Given the description of an element on the screen output the (x, y) to click on. 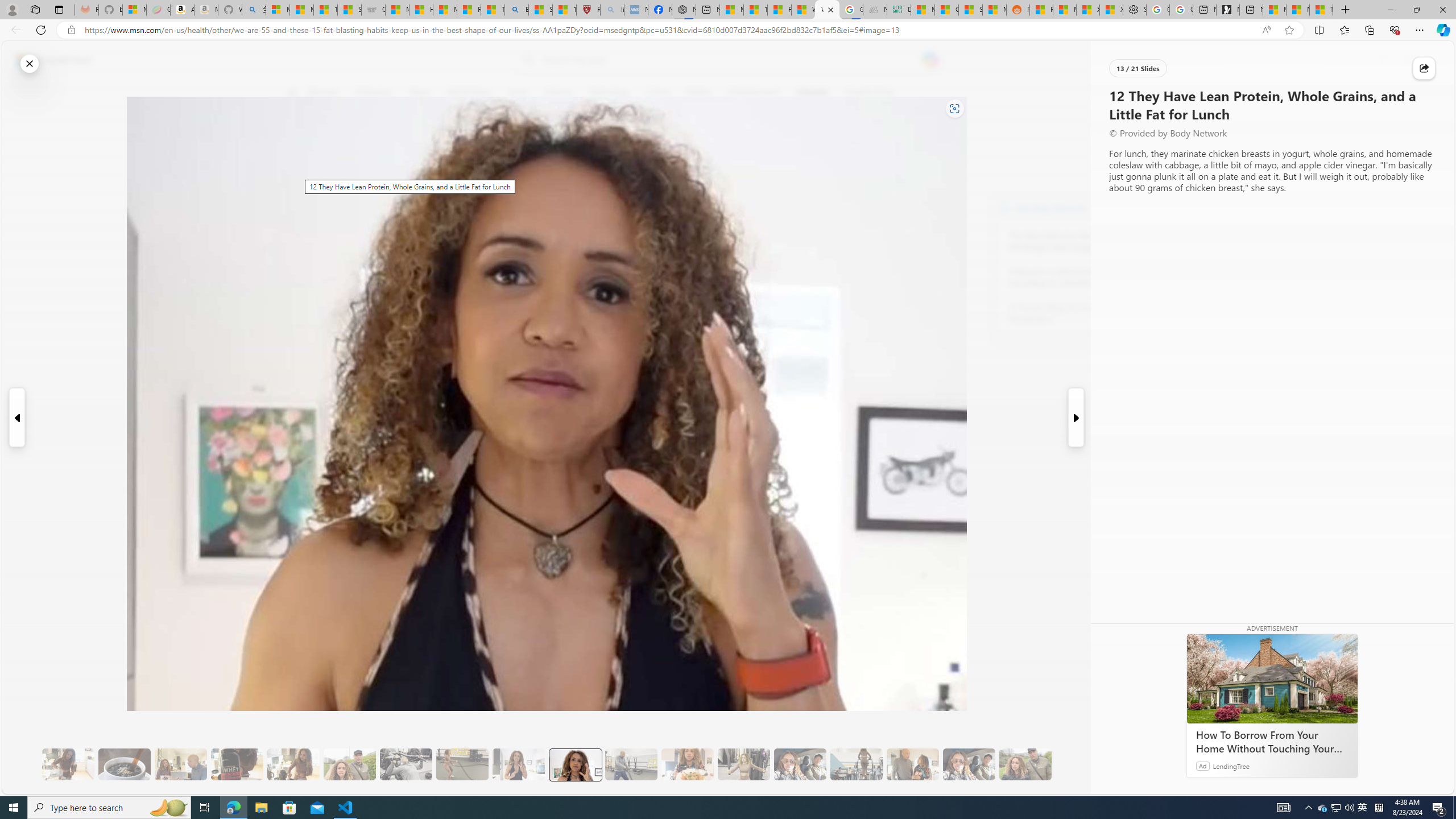
Follow (518, 146)
Personalize (1132, 92)
Visit Body Network website (1145, 207)
World News (468, 92)
7 They Don't Skip Meals (293, 764)
Robert H. Shmerling, MD - Harvard Health (588, 9)
18 It's More Fun Doing It with Someone Else (912, 764)
